Given the description of an element on the screen output the (x, y) to click on. 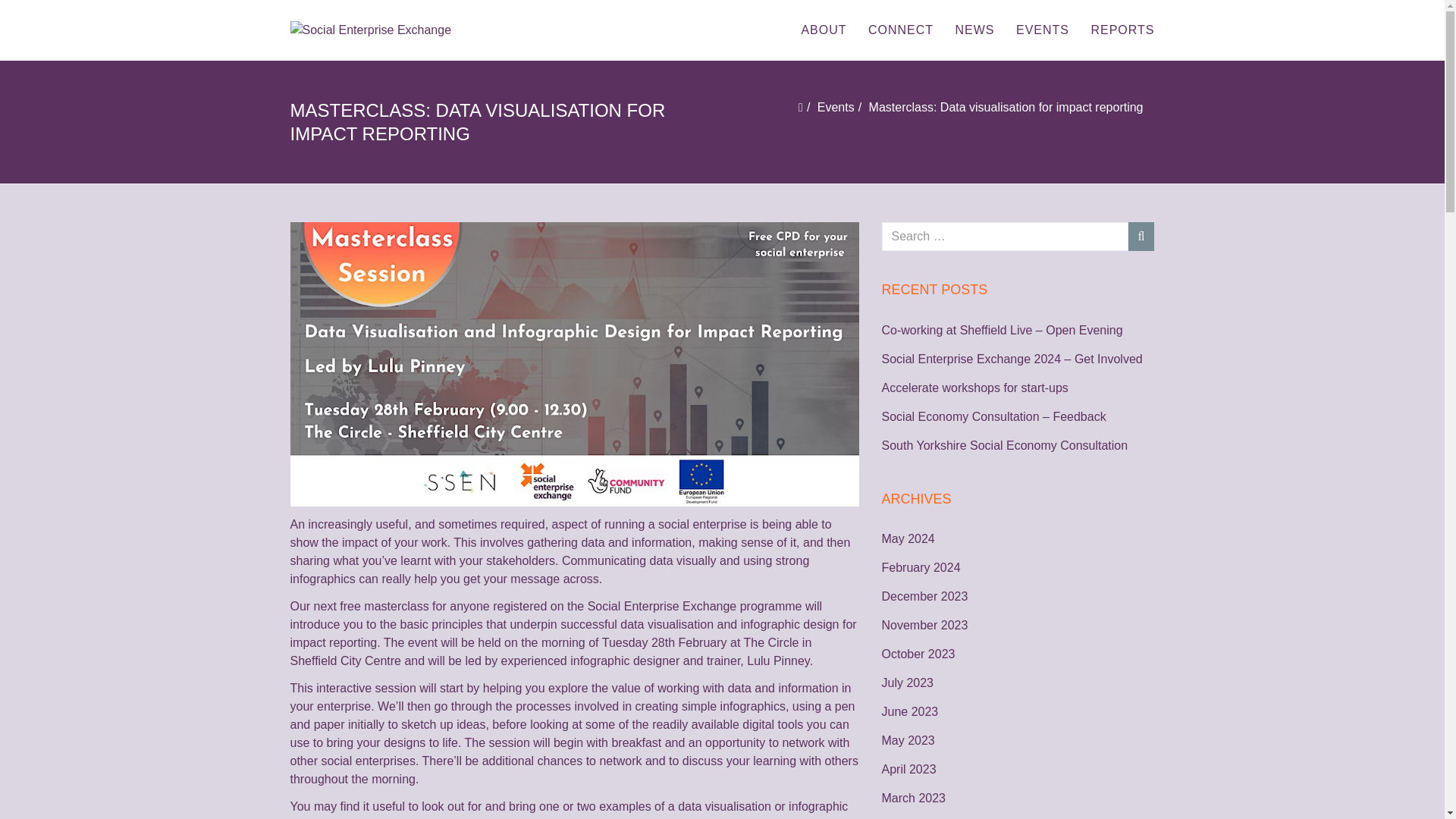
Masterclass: Data visualisation for impact reporting (1005, 106)
ABOUT (824, 30)
November 2023 (1017, 625)
October 2023 (1017, 654)
May 2024 (1017, 538)
Accelerate workshops for start-ups (1017, 388)
Masterclass: Data visualisation for impact reporting (1005, 106)
December 2023 (1017, 597)
May 2023 (1017, 741)
EVENTS (1042, 30)
